Given the description of an element on the screen output the (x, y) to click on. 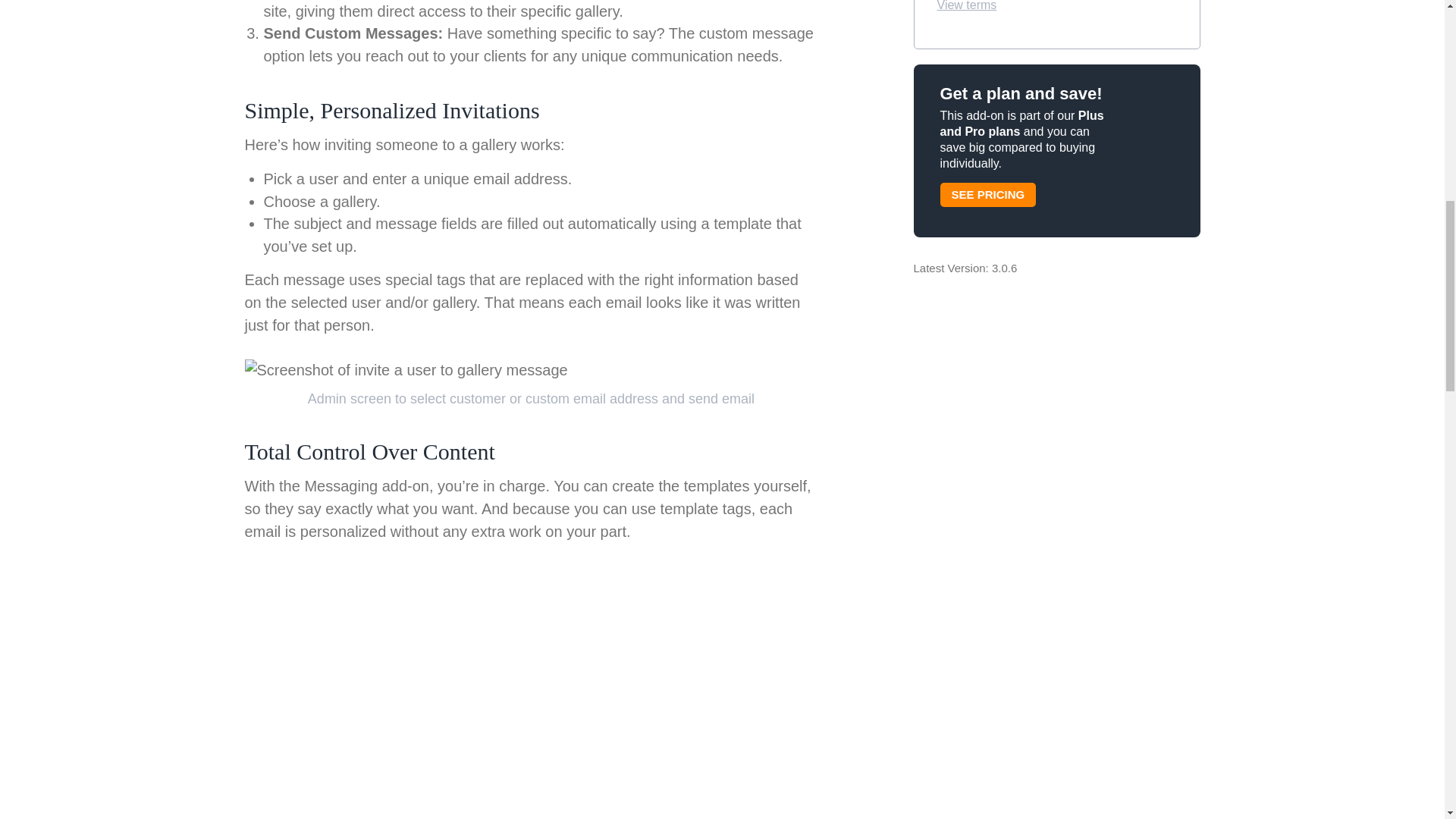
SEE PRICING (988, 194)
View terms (967, 5)
